Given the description of an element on the screen output the (x, y) to click on. 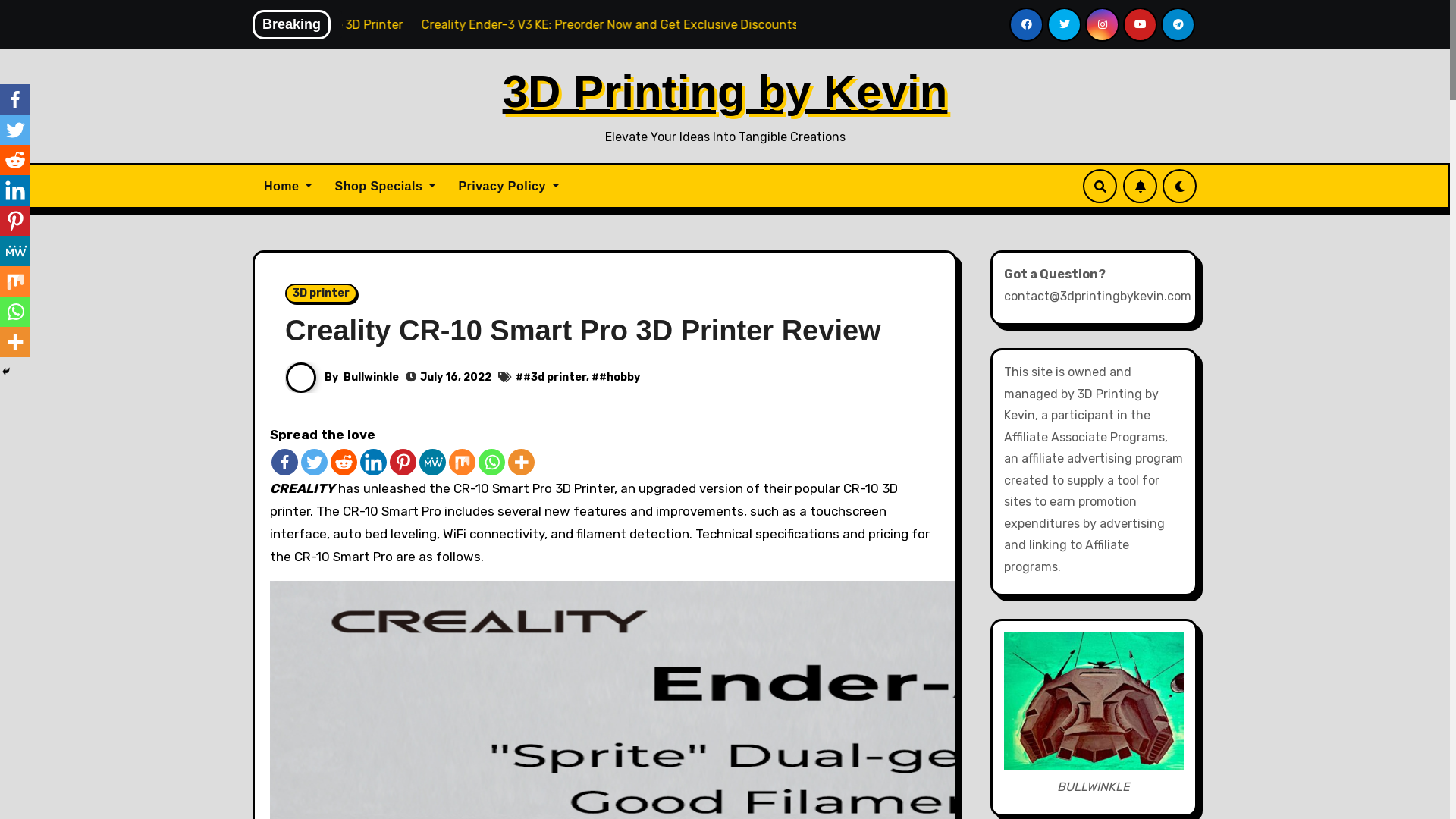
Mix Element type: hover (461, 461)
Twitter Element type: hover (314, 461)
Bullwinkle Element type: text (370, 376)
Linkedin Element type: hover (373, 461)
Pinterest Element type: hover (15, 220)
Privacy Policy Element type: text (508, 186)
Pinterest Element type: hover (402, 461)
Twitter Element type: hover (15, 129)
Flashforge Adventurer 3 Lite 3D Printer Element type: text (627, 23)
3D Printing by Kevin Element type: text (724, 90)
#3d printer Element type: text (554, 376)
Home Element type: text (287, 186)
Shop Specials Element type: text (384, 186)
Facebook Element type: hover (15, 99)
July 16, 2022 Element type: text (455, 376)
Hide Element type: hover (6, 371)
#hobby Element type: text (619, 376)
Creality CR-10 Smart Pro 3D Printer Review Element type: text (583, 330)
More Element type: hover (521, 461)
Whatsapp Element type: hover (491, 461)
Reddit Element type: hover (15, 159)
Facebook Element type: hover (284, 461)
Mix Element type: hover (15, 281)
MeWe Element type: hover (15, 250)
More Element type: hover (15, 341)
3D printer Element type: text (321, 293)
MeWe Element type: hover (432, 461)
Linkedin Element type: hover (15, 190)
Whatsapp Element type: hover (15, 311)
Reddit Element type: hover (343, 461)
The Creality Ender-3 V3 SE 3D Printer has Landed Element type: text (356, 23)
# Element type: text (519, 376)
